Given the description of an element on the screen output the (x, y) to click on. 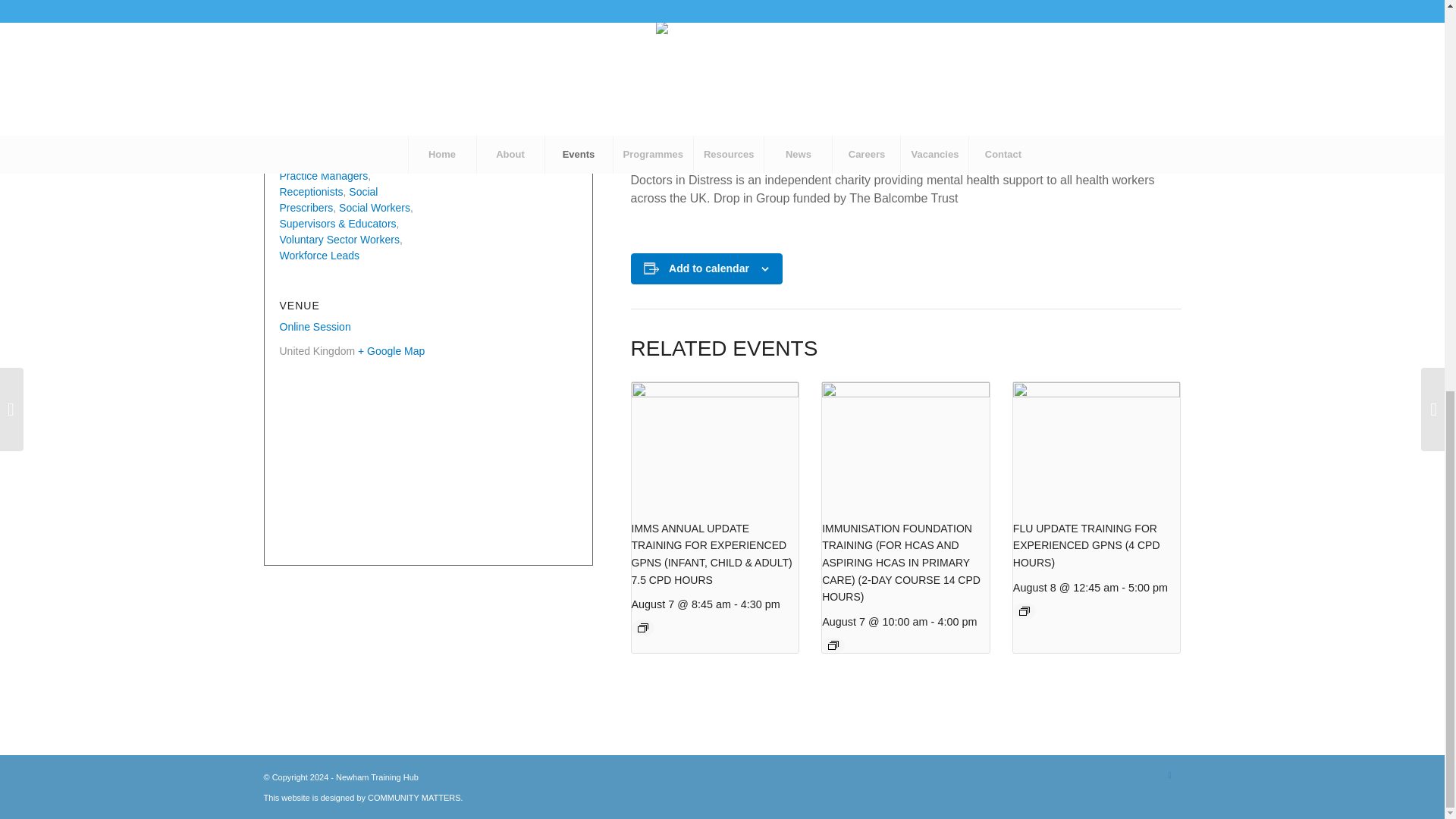
Click to view a Google Map (391, 350)
Mail (1169, 774)
Event Series (833, 645)
REGISTER NOW (677, 150)
Event Series (1024, 610)
Event Series (642, 627)
